Given the description of an element on the screen output the (x, y) to click on. 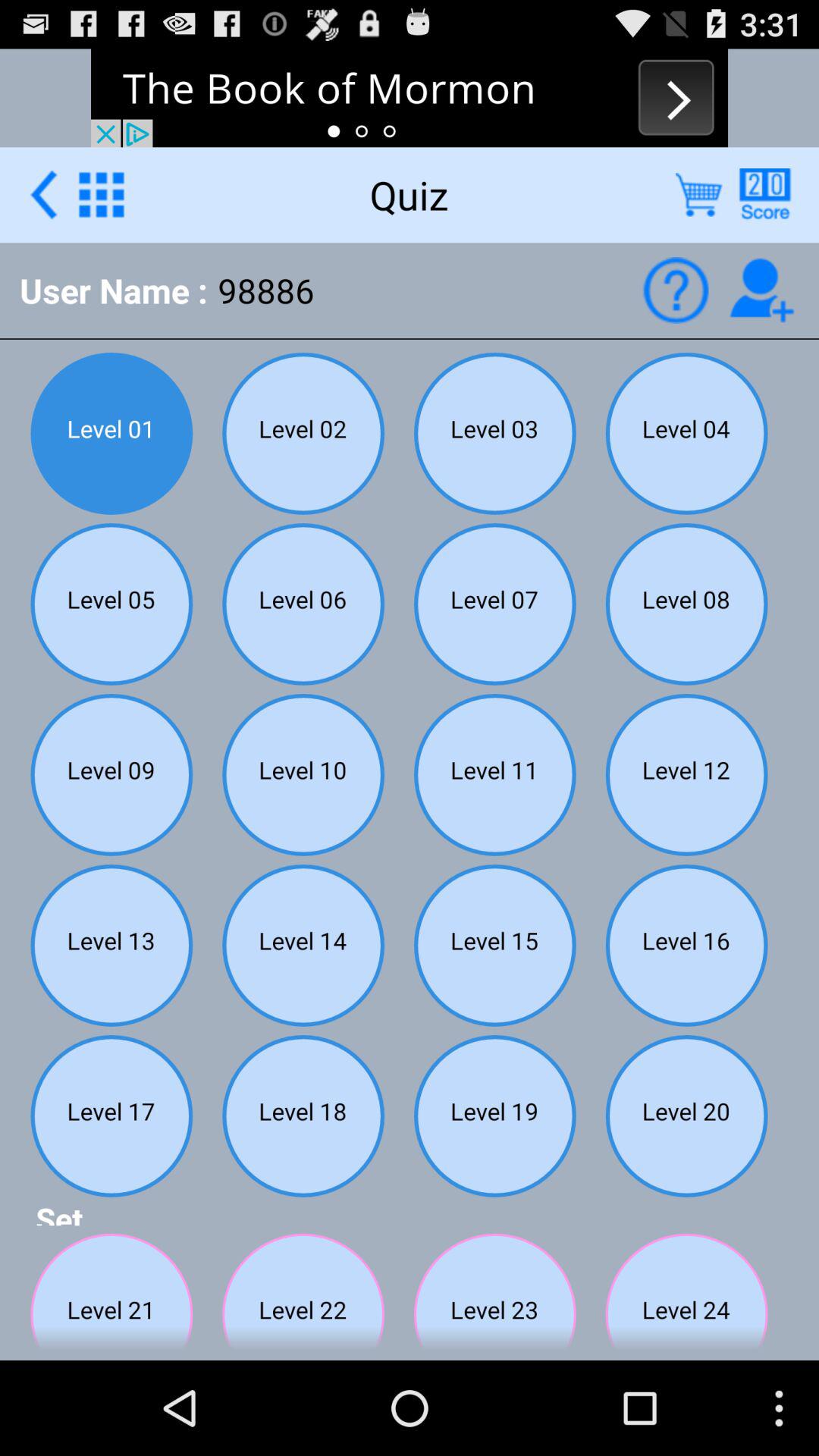
toggle navigation menu (101, 194)
